Given the description of an element on the screen output the (x, y) to click on. 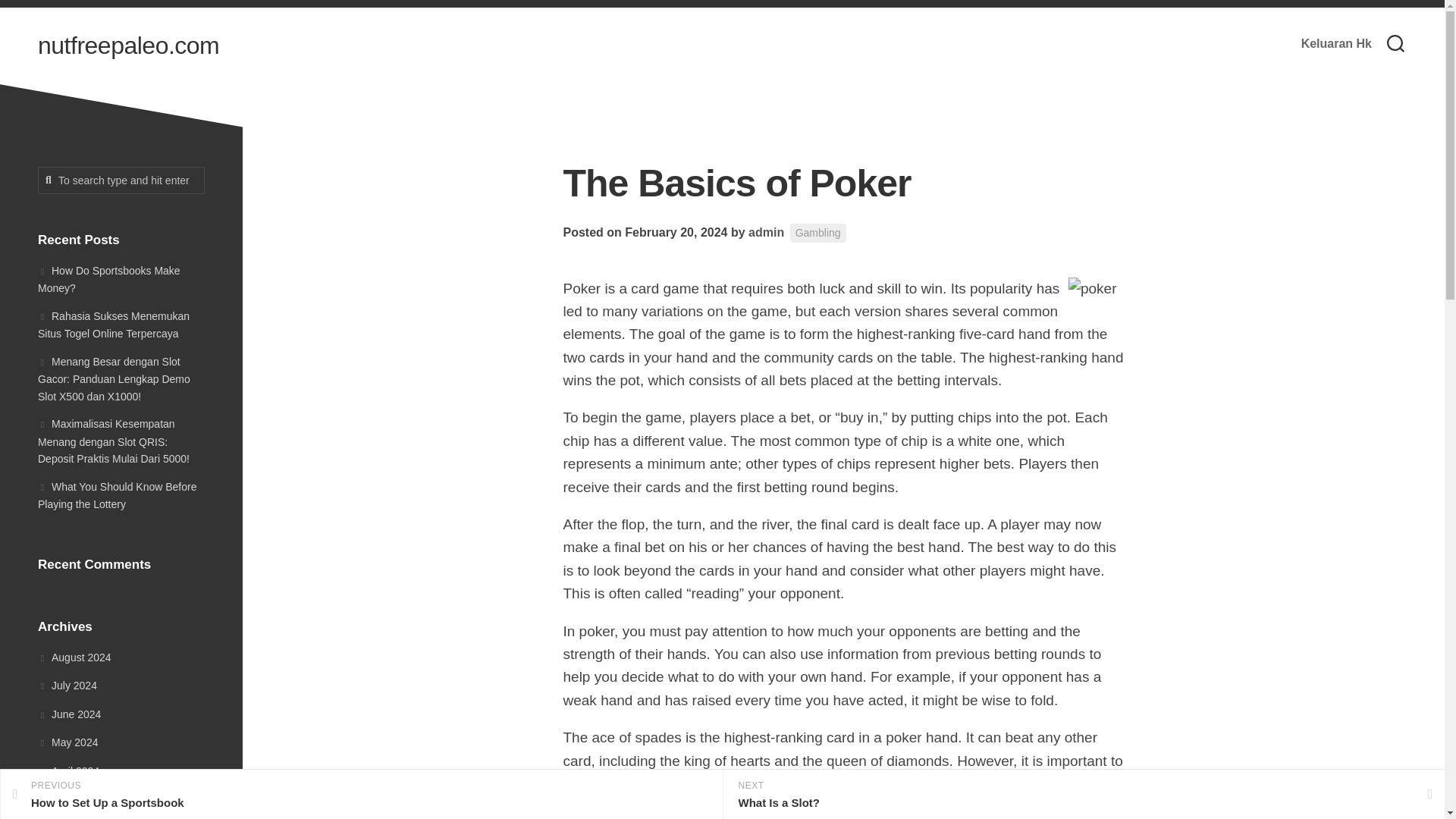
August 2024 (74, 656)
Keluaran Hk (1336, 43)
Rahasia Sukses Menemukan Situs Togel Online Terpercaya (113, 324)
To search type and hit enter (121, 180)
Posts by admin (766, 232)
What You Should Know Before Playing the Lottery (116, 495)
nutfreepaleo.com (128, 44)
June 2024 (68, 714)
May 2024 (361, 794)
March 2024 (67, 742)
How Do Sportsbooks Make Money? (72, 799)
admin (108, 278)
